Given the description of an element on the screen output the (x, y) to click on. 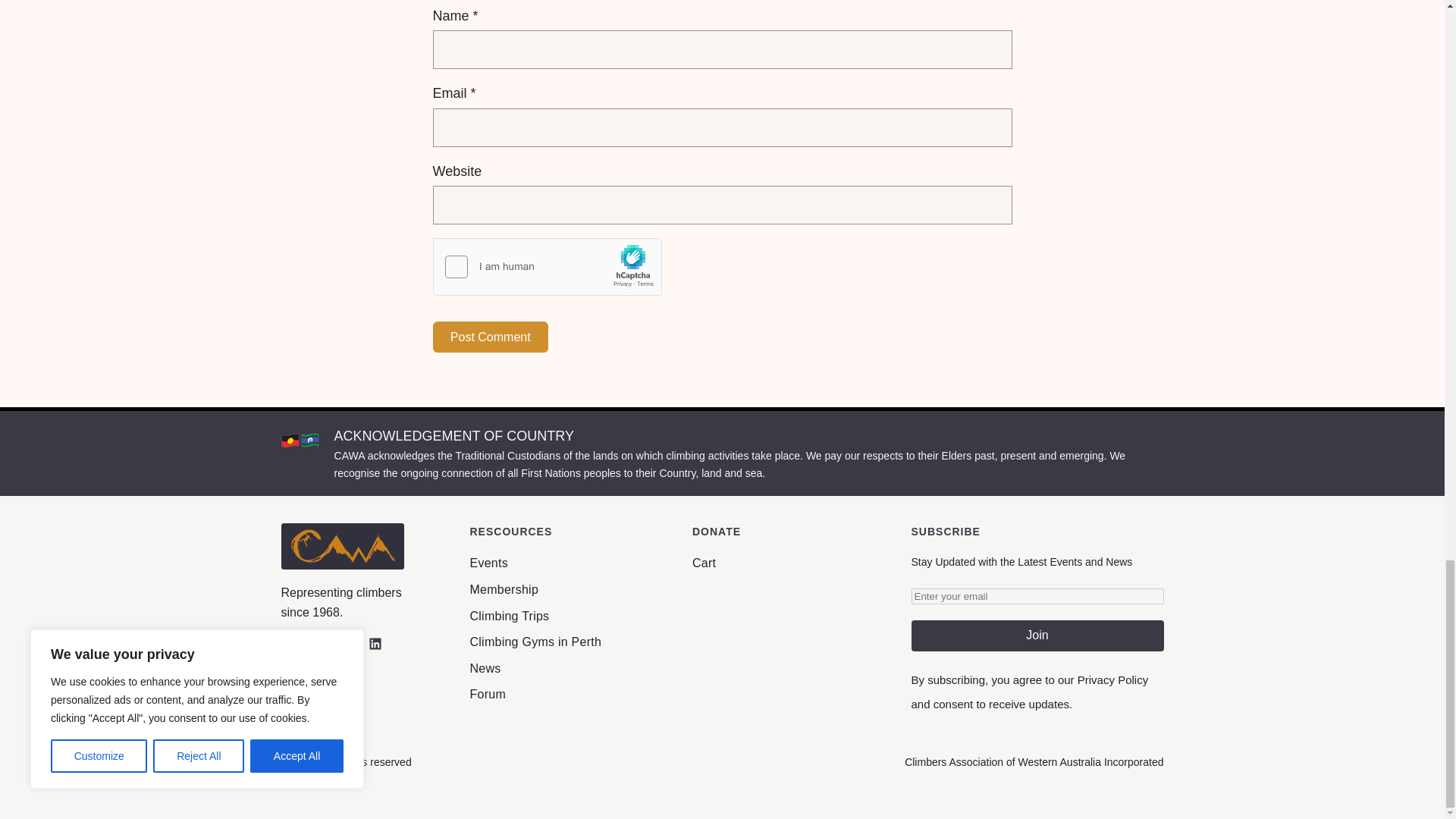
Enter your email (1037, 596)
Post Comment (489, 336)
